Given the description of an element on the screen output the (x, y) to click on. 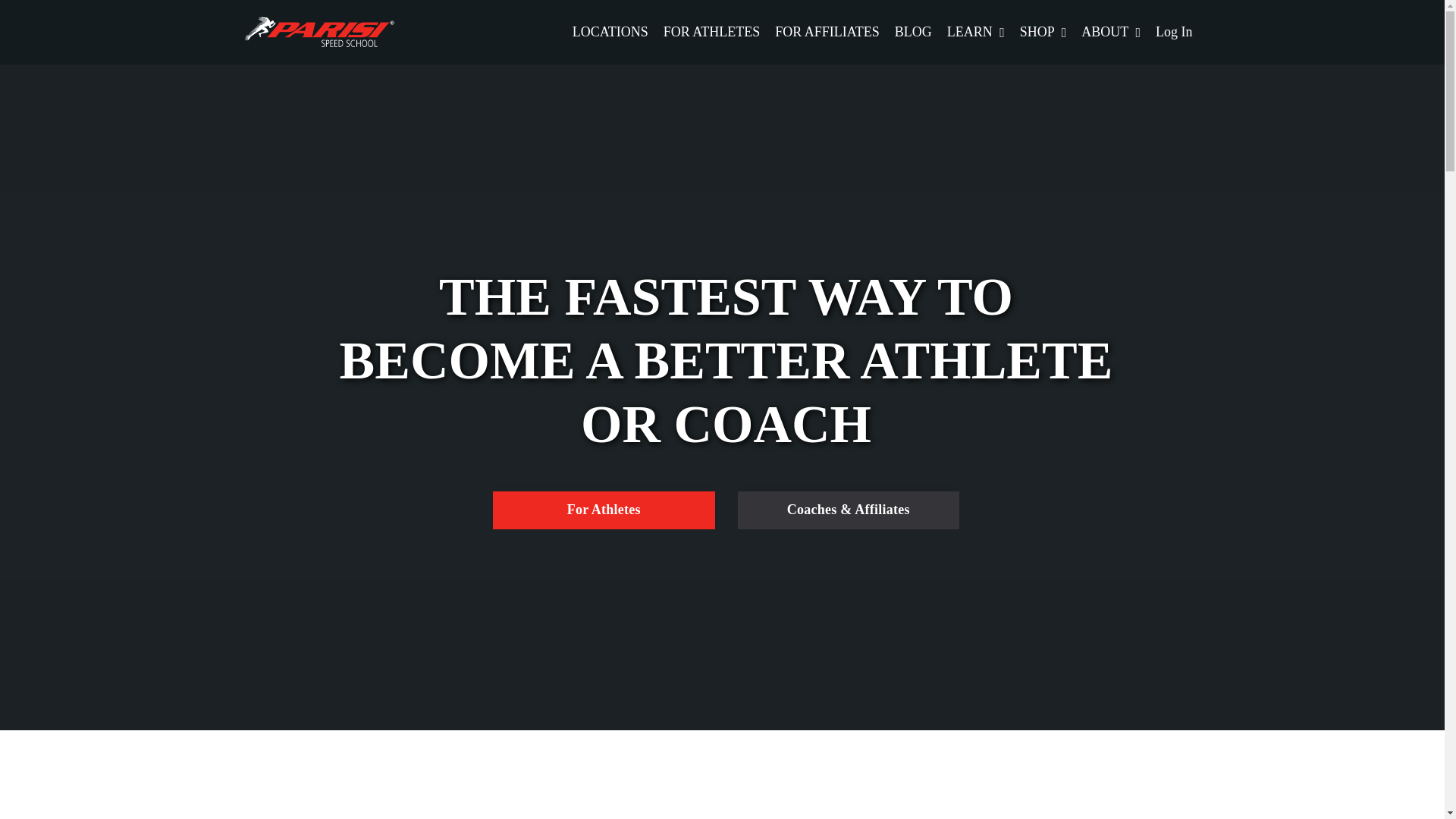
LEARN (975, 32)
FOR ATHLETES (711, 32)
Log In (1174, 31)
LOCATIONS (609, 32)
ABOUT (1110, 32)
SHOP (1042, 32)
FOR AFFILIATES (826, 32)
For Athletes (603, 510)
BLOG (913, 32)
